Given the description of an element on the screen output the (x, y) to click on. 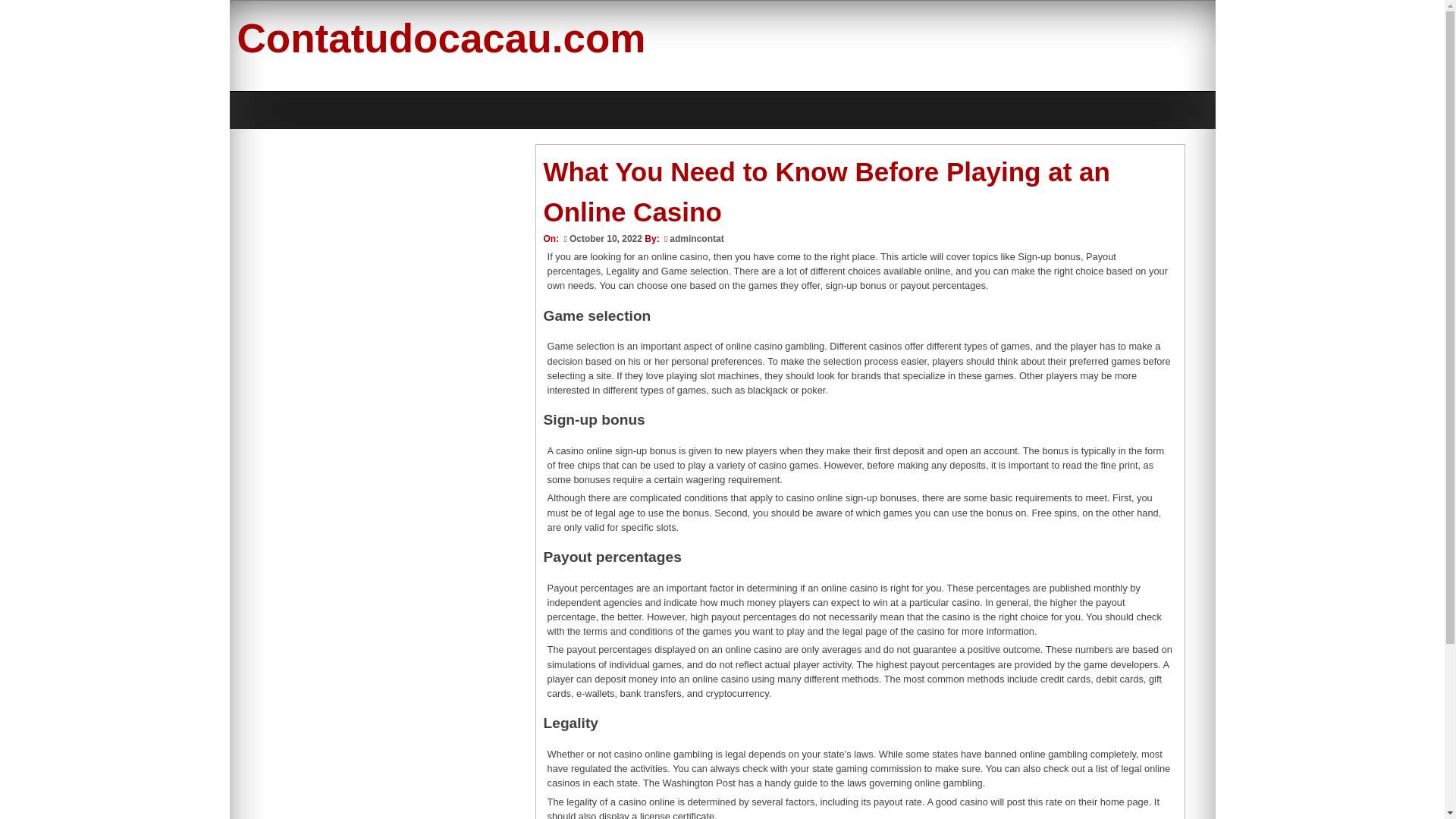
October 10, 2022 (601, 238)
admincontat (696, 238)
Contatudocacau.com (440, 37)
